Given the description of an element on the screen output the (x, y) to click on. 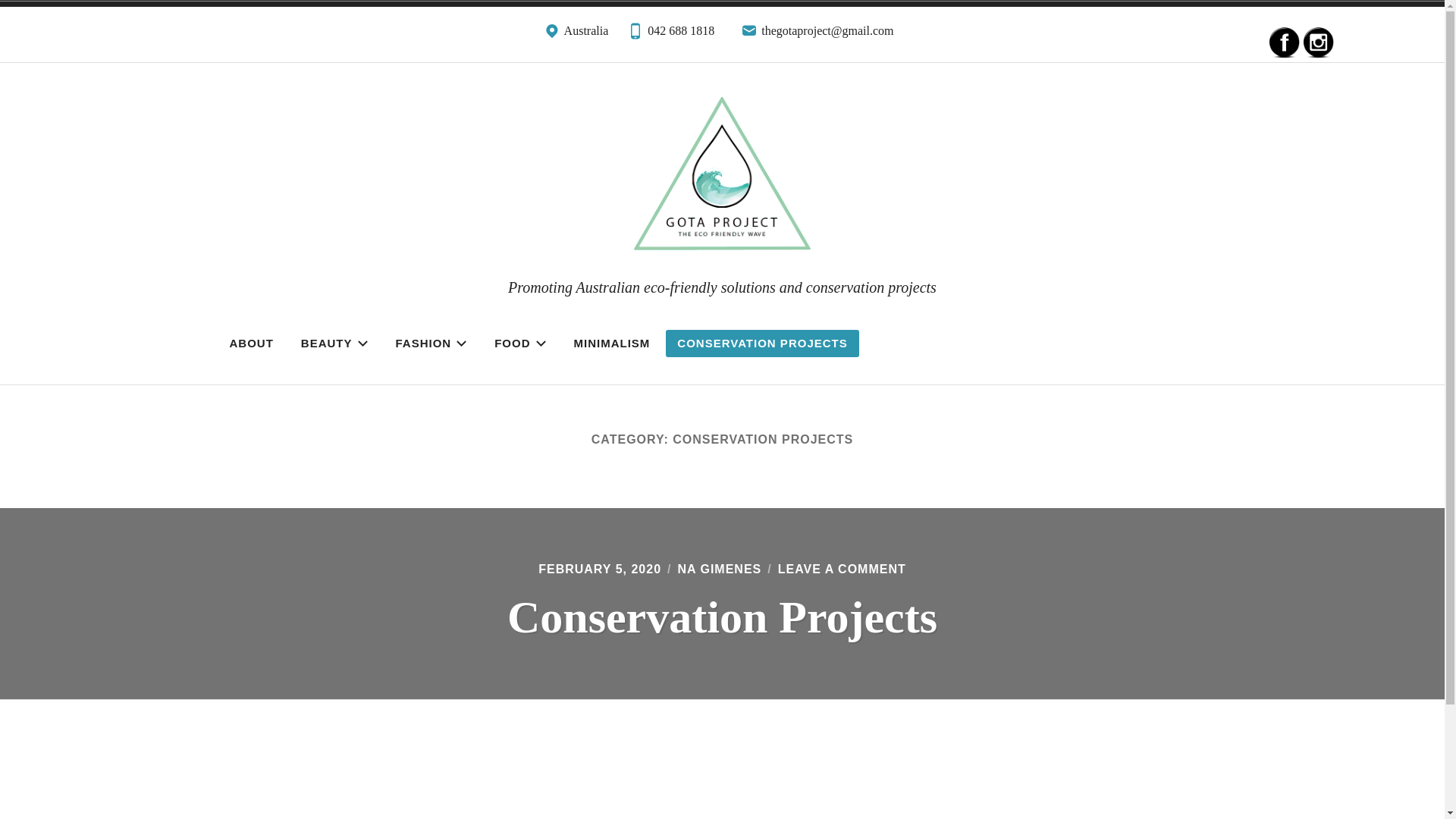
FOOD Element type: text (520, 343)
Instagram Element type: hover (1318, 42)
ABOUT Element type: text (251, 343)
MINIMALISM Element type: text (612, 343)
LEAVE A COMMENT
ON CONSERVATION PROJECTS Element type: text (842, 568)
FASHION Element type: text (430, 343)
Conservation Projects Element type: text (722, 617)
Phone 042 688 1818 Element type: text (669, 34)
CONSERVATION PROJECTS Element type: text (761, 343)
BEAUTY Element type: text (334, 343)
Facebook Element type: hover (1284, 42)
NA GIMENES Element type: text (719, 568)
FEBRUARY 5, 2020 Element type: text (599, 568)
Location Australia Element type: text (575, 34)
Skip to content Element type: text (0, 0)
E-mail thegotaproject@gmail.com Element type: text (816, 34)
